Given the description of an element on the screen output the (x, y) to click on. 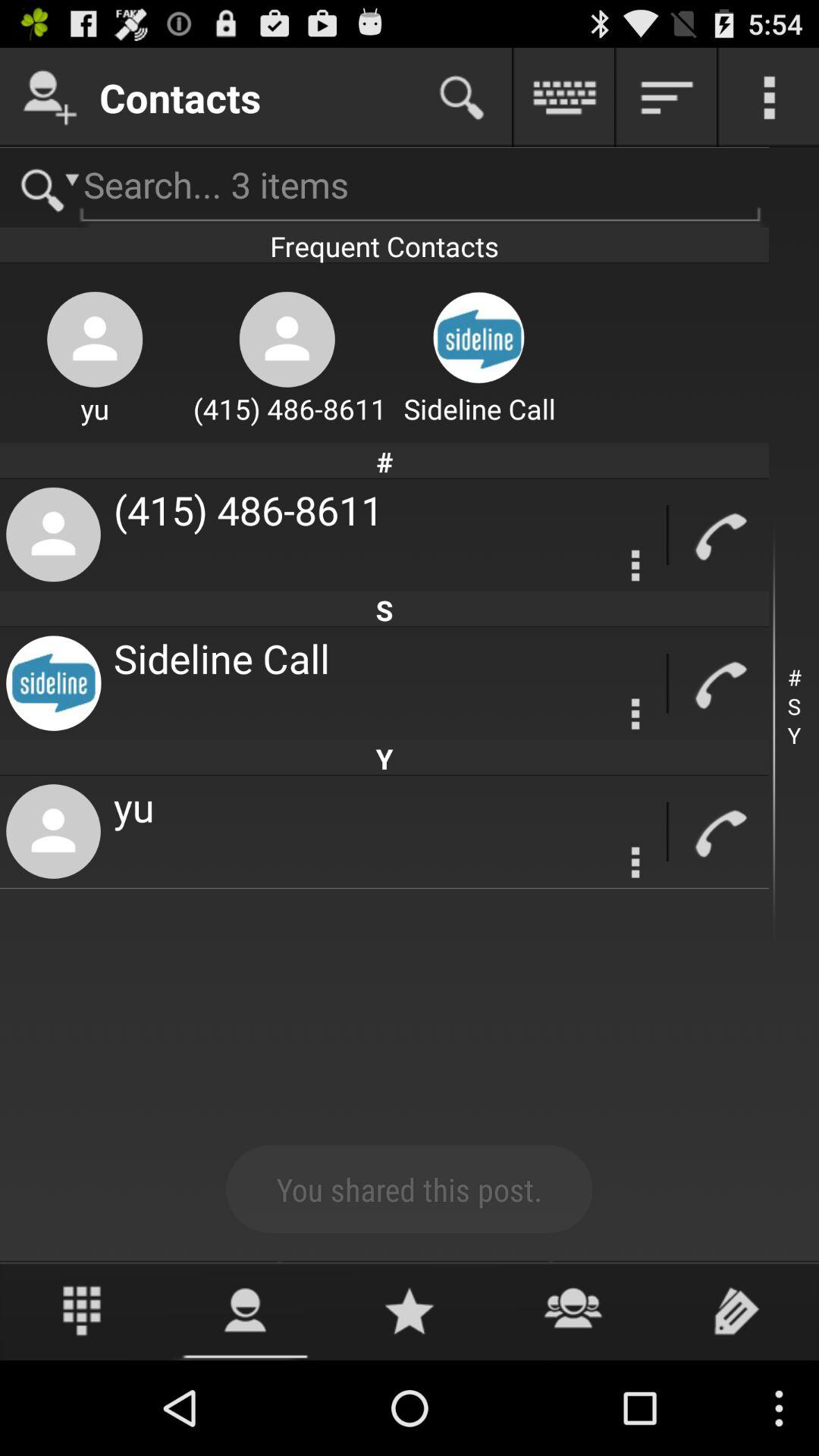
rate the app (409, 1310)
